Given the description of an element on the screen output the (x, y) to click on. 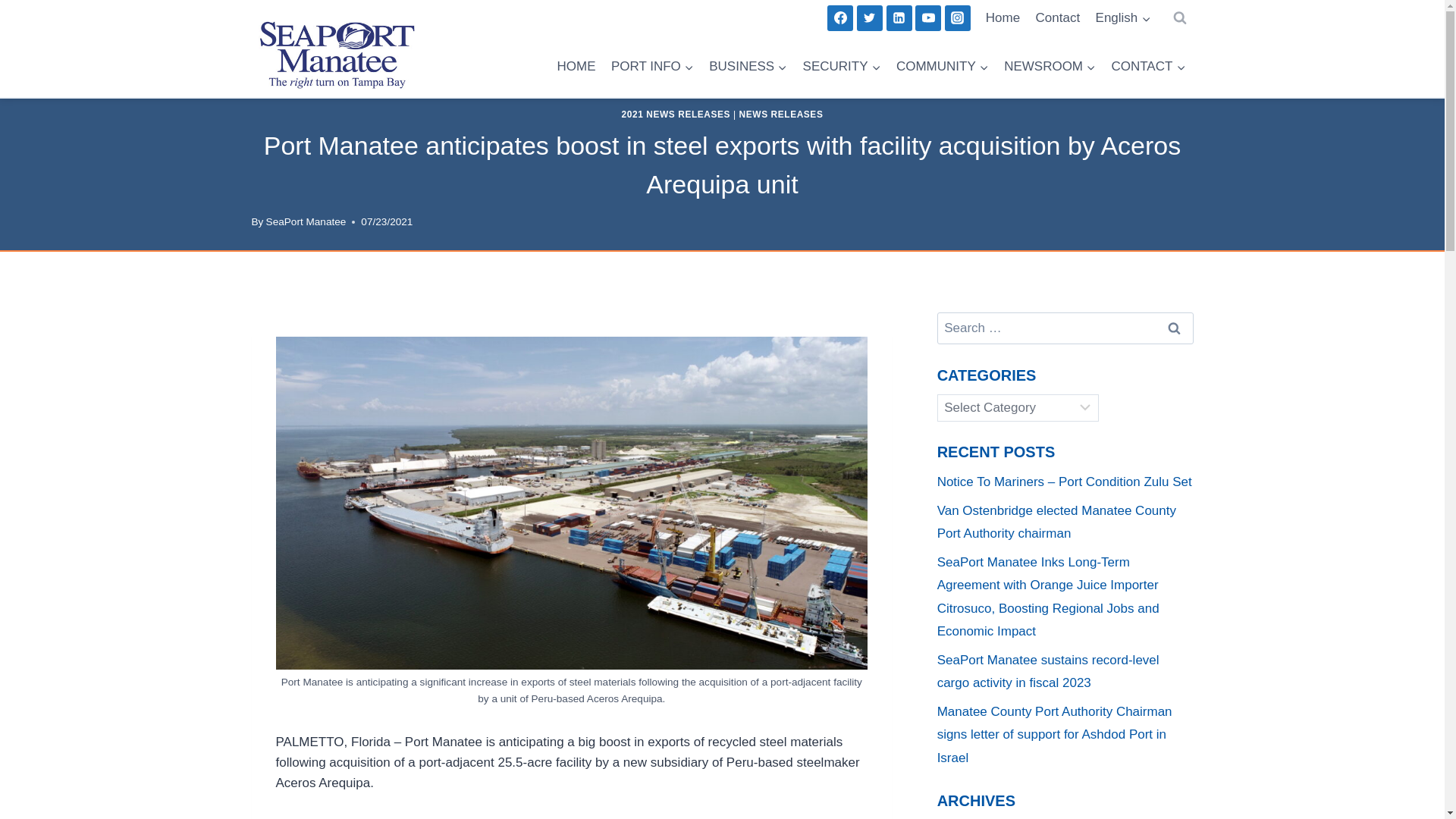
SECURITY (841, 66)
Contact (1057, 18)
COMMUNITY (941, 66)
Search (1174, 328)
PORT INFO (652, 66)
Home (1002, 18)
BUSINESS (747, 66)
HOME (575, 66)
Search (1174, 328)
English (1122, 18)
